Given the description of an element on the screen output the (x, y) to click on. 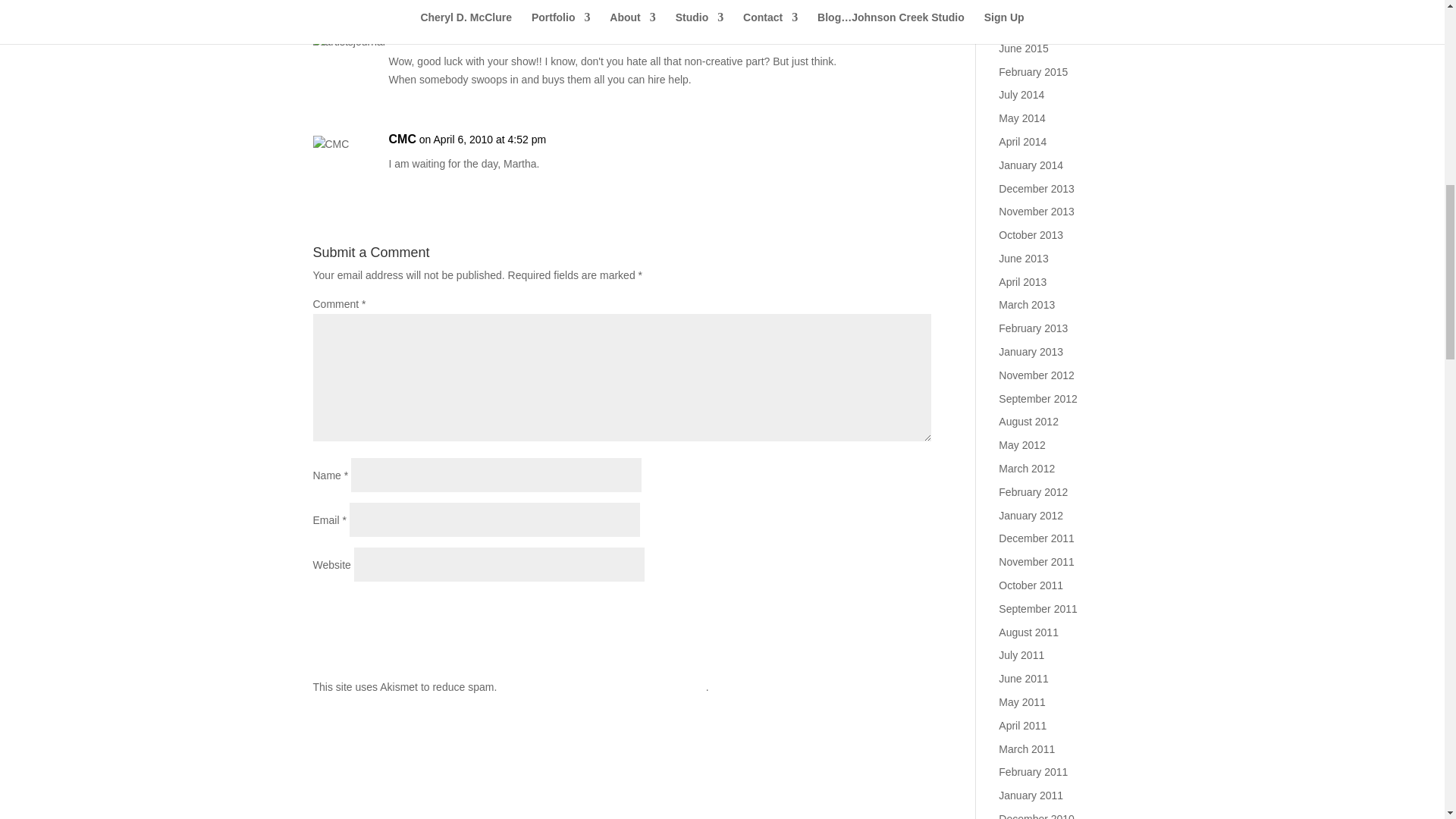
Reply (917, 144)
Reply (917, 42)
Submit Comment (855, 610)
Submit Comment (855, 610)
Learn how your comment data is processed (602, 686)
